Given the description of an element on the screen output the (x, y) to click on. 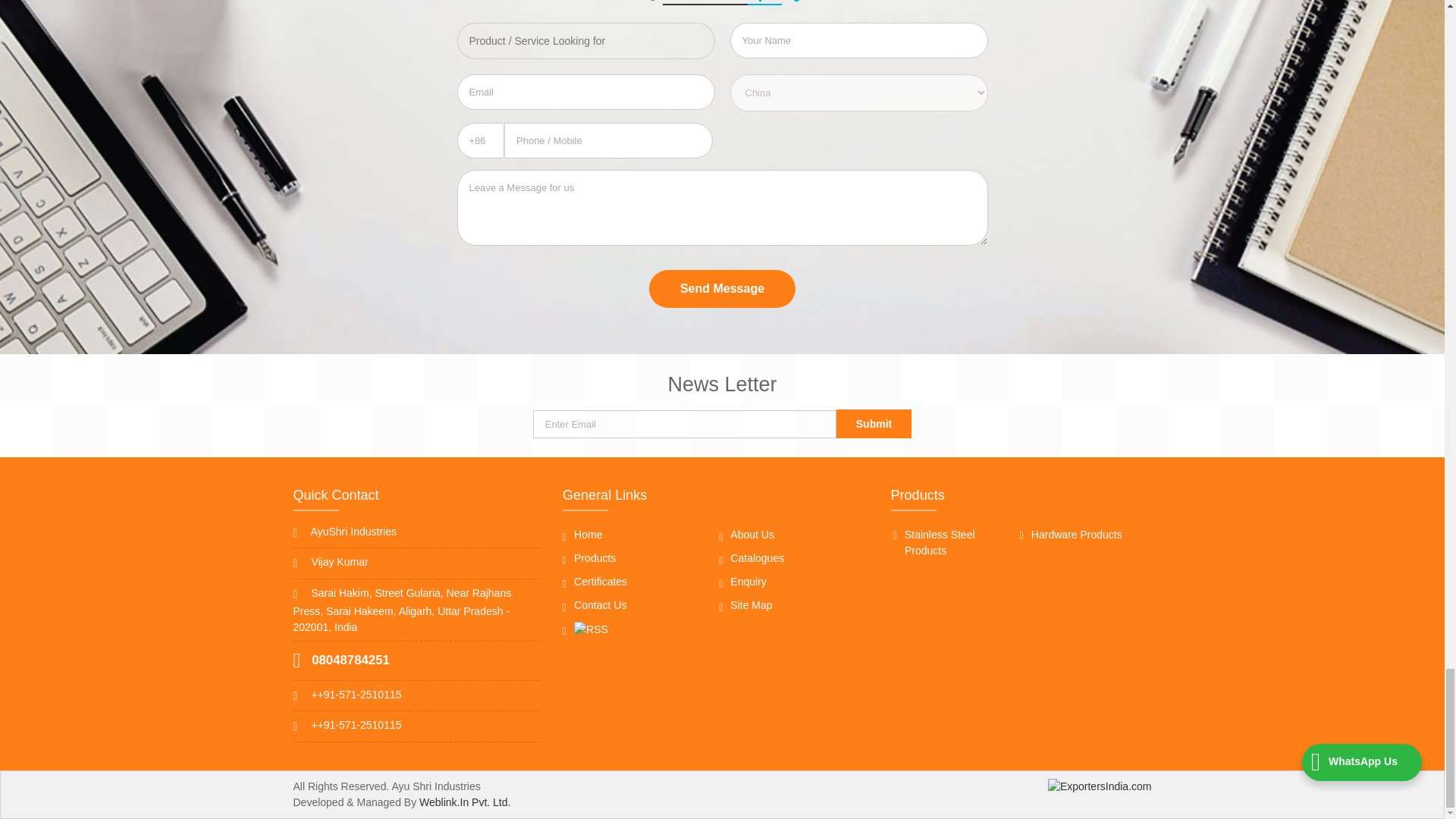
Submit (873, 423)
Enter Email (683, 424)
Send Message (721, 288)
